Given the description of an element on the screen output the (x, y) to click on. 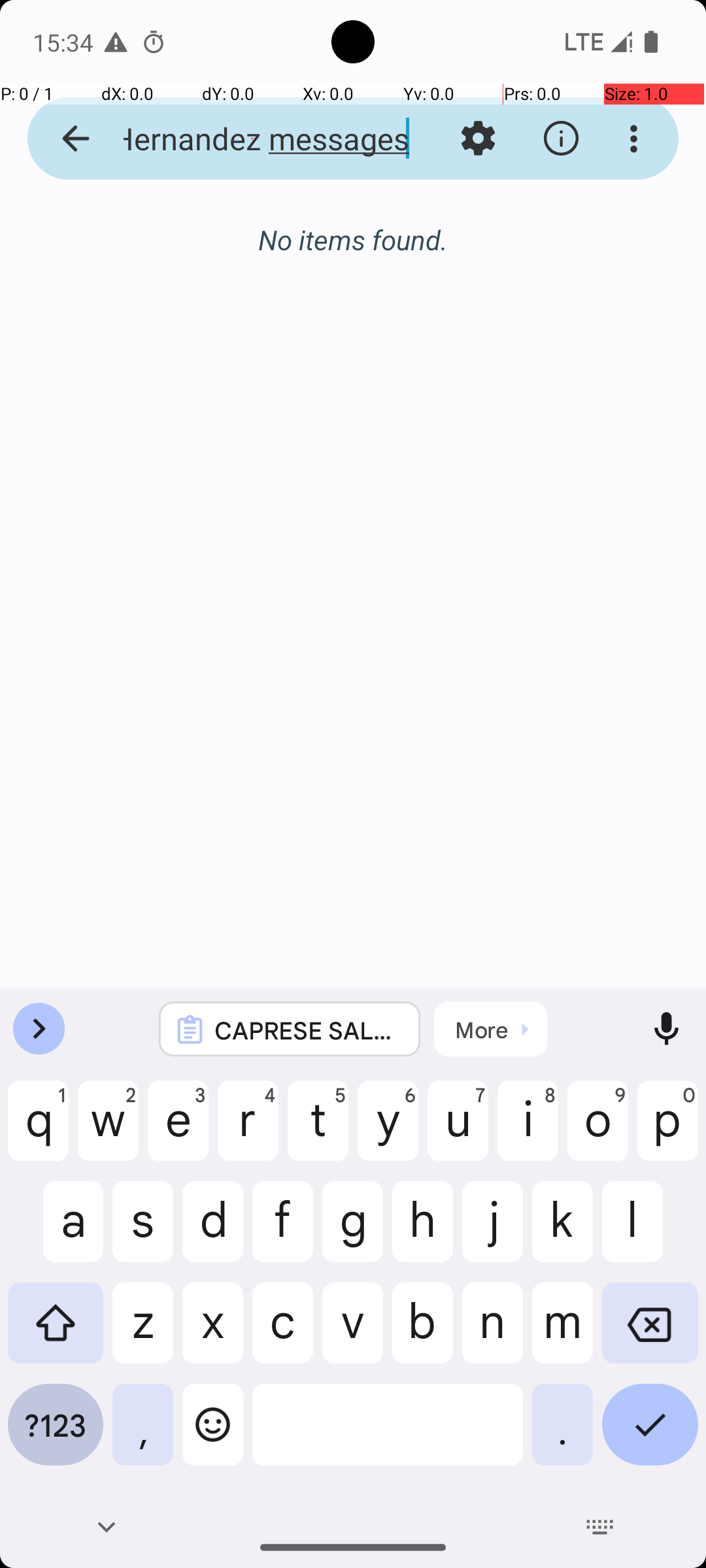
Alice Hernandez messages Element type: android.widget.EditText (252, 138)
Alice Hernandez Element type: android.widget.TextView (408, 242)
Sorry, there was a glitch, what was the last message you sent me? Element type: android.widget.TextView (408, 281)
CAPRESE SALAD SKEWERS  Servings: 1 serving Time: 45 mins  A quick and easy meal, perfect for busy weekdays.  Ingredients: - n/a  Directions: 1. Thread cherry tomatoes, basil leaves, and mozzarella balls onto skewers. Drizzle with balsamic glaze. Feel free to substitute with ingredients you have on hand.  Shared with https://play.google.com/store/apps/details?id=com.flauschcode.broccoli Element type: android.widget.TextView (306, 1029)
